Given the description of an element on the screen output the (x, y) to click on. 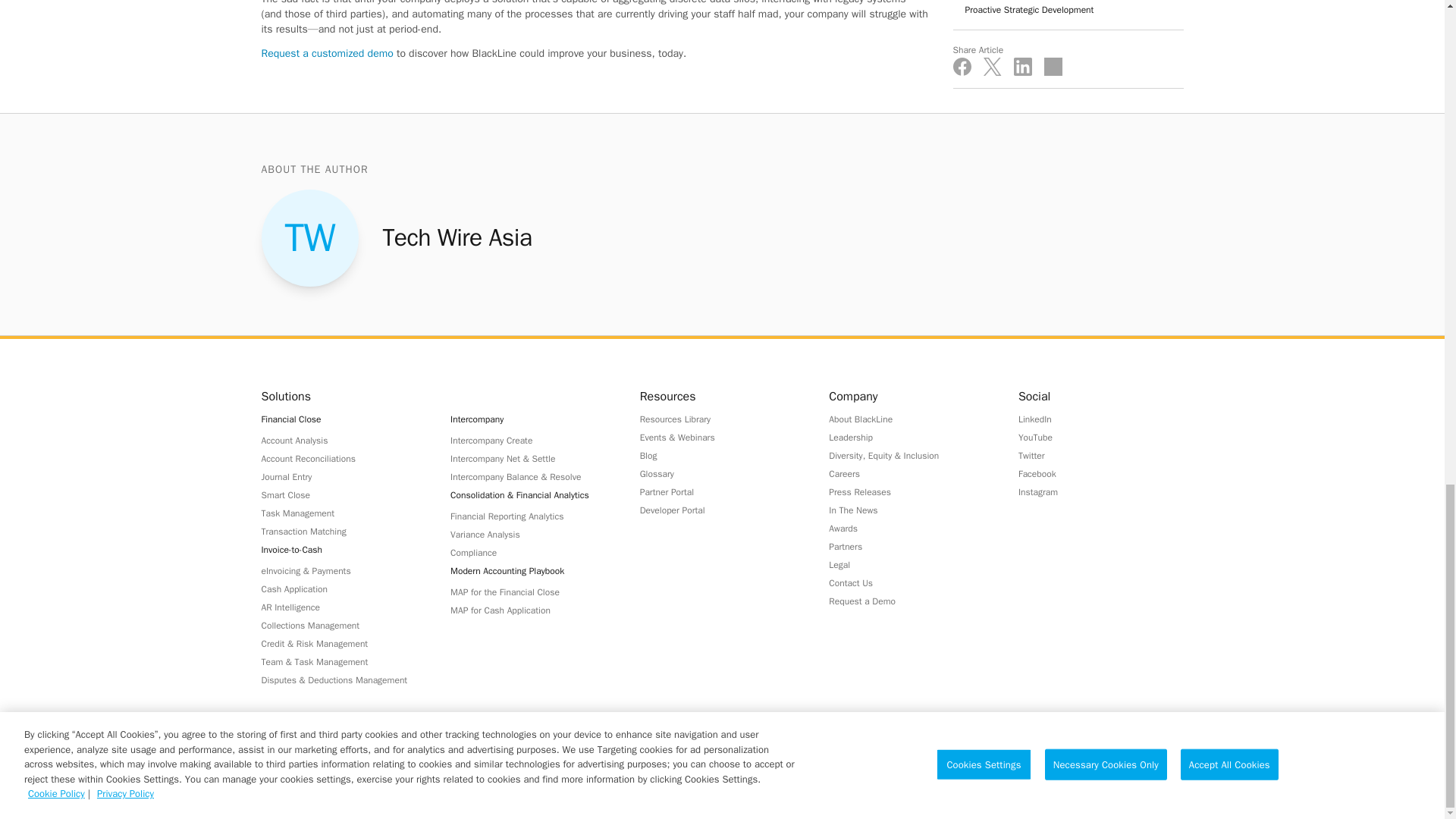
Transaction Matching (343, 531)
AR Intelligence (343, 607)
Financial Reporting Analytics (532, 516)
Collections Management (343, 625)
Journal Entry (343, 476)
Account Analysis (343, 440)
Account Reconciliations (343, 458)
Intercompany Create (532, 440)
Task Management (343, 513)
Smart Close (343, 494)
